Given the description of an element on the screen output the (x, y) to click on. 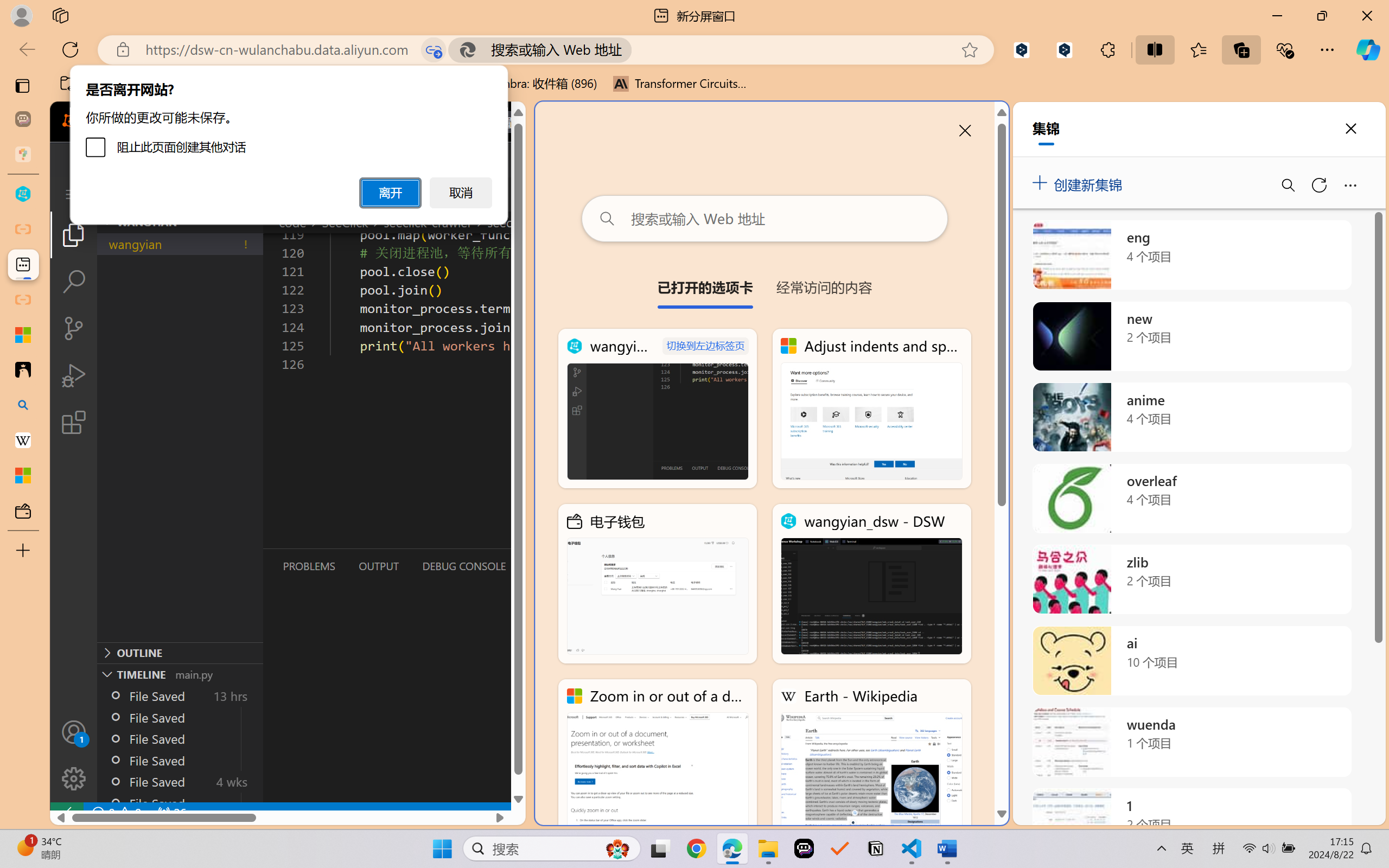
New Slide (105, 62)
Dictate (774, 51)
Right Brace (572, 72)
Czech (1231, 246)
Justify (372, 71)
Section (137, 77)
Microsoft search (708, 10)
Italic (186, 71)
Transitions (159, 29)
Bold (174, 71)
Arrow: Right (562, 60)
Center (346, 71)
Layout (137, 47)
